Given the description of an element on the screen output the (x, y) to click on. 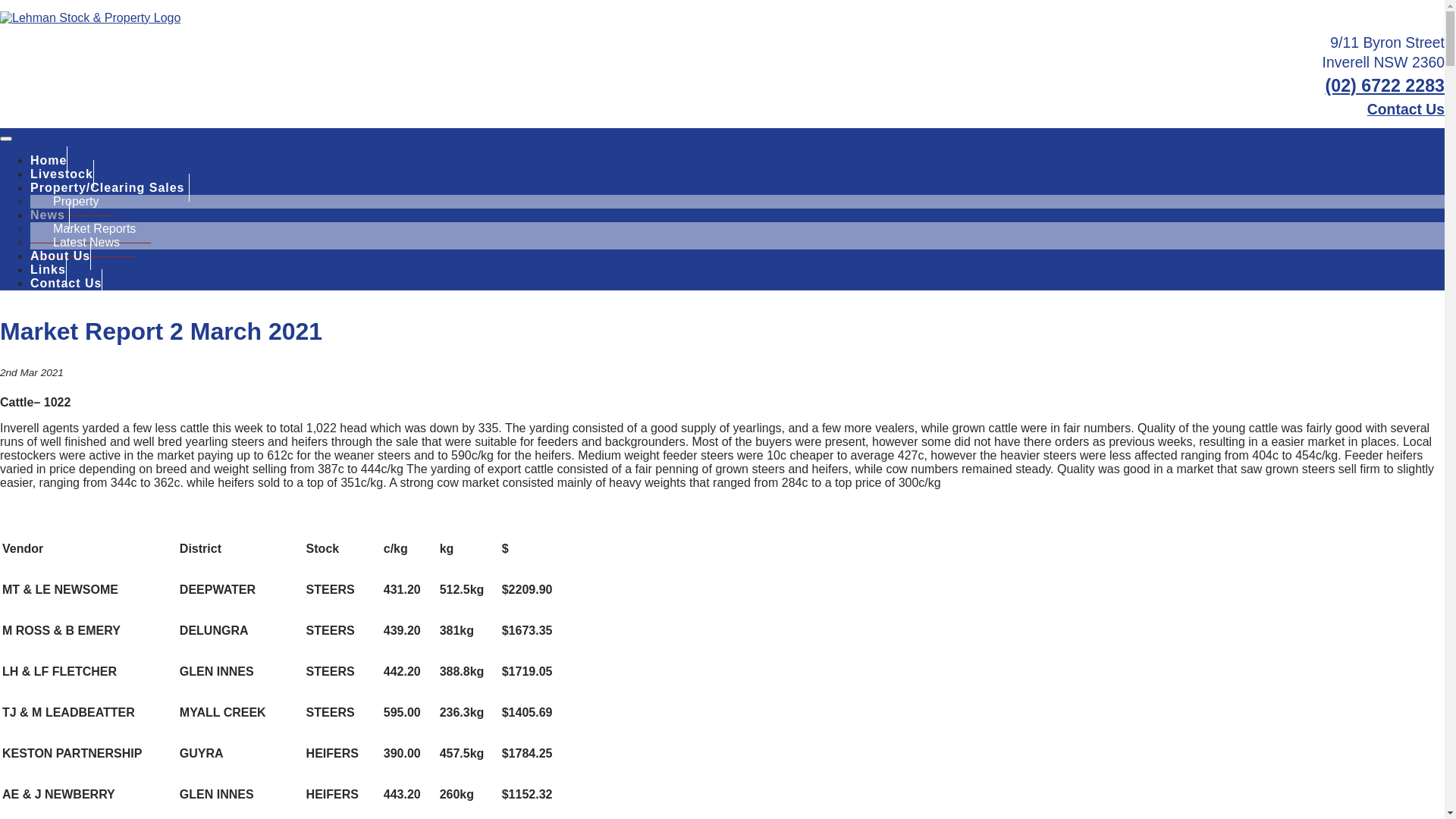
Links Element type: text (48, 269)
Property Element type: text (71, 201)
Livestock Element type: text (62, 174)
Home Element type: text (48, 160)
Contact Us Element type: text (1405, 108)
Latest News Element type: text (82, 242)
Market Reports Element type: text (90, 228)
About Us Element type: text (60, 255)
Property/Clearing Sales  Element type: text (109, 187)
(02) 6722 2283 Element type: text (1385, 85)
Contact Us Element type: text (66, 283)
News  Element type: text (49, 214)
